Given the description of an element on the screen output the (x, y) to click on. 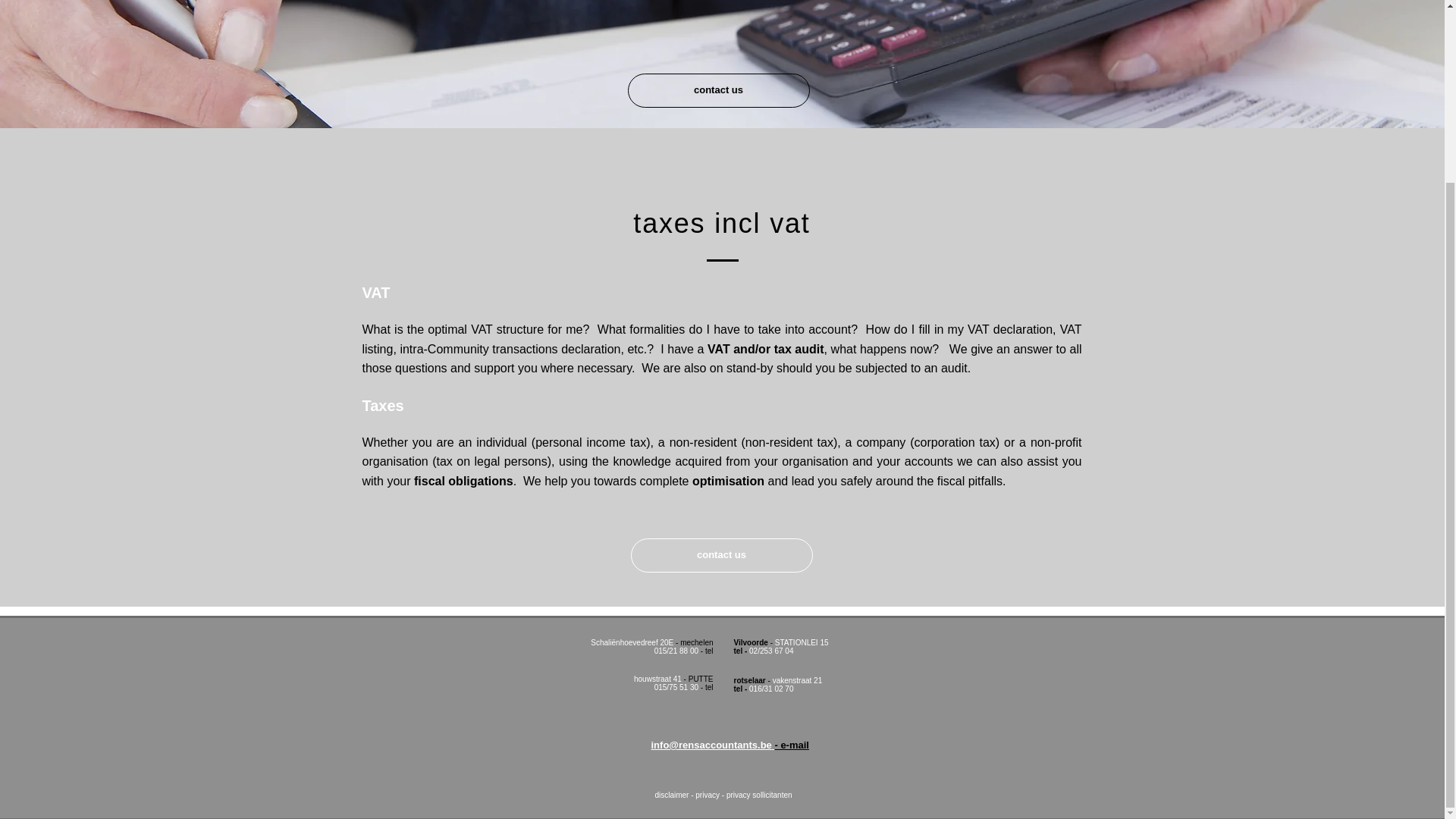
privacy sollicitanten (759, 795)
tel - (741, 688)
tel - (741, 651)
contact us (718, 90)
contact us (721, 555)
Vilvoorde - (753, 642)
- e-mail (791, 745)
privacy (707, 795)
disclaimer (670, 795)
houwstraat 41 - PUTTE (673, 678)
rotselaar - (753, 680)
STATIONLEI 15 (801, 642)
